Given the description of an element on the screen output the (x, y) to click on. 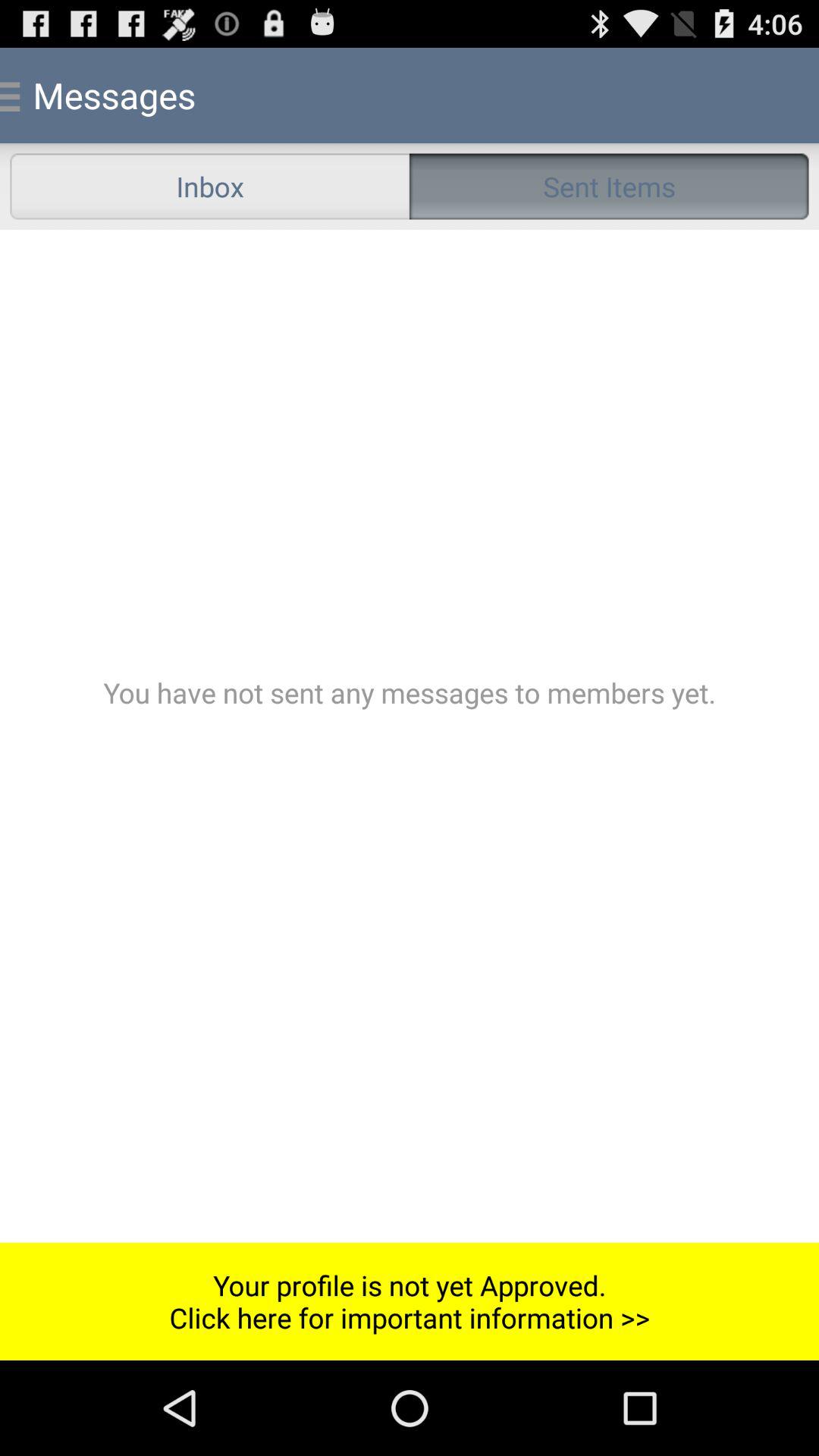
choose inbox item (209, 186)
